Given the description of an element on the screen output the (x, y) to click on. 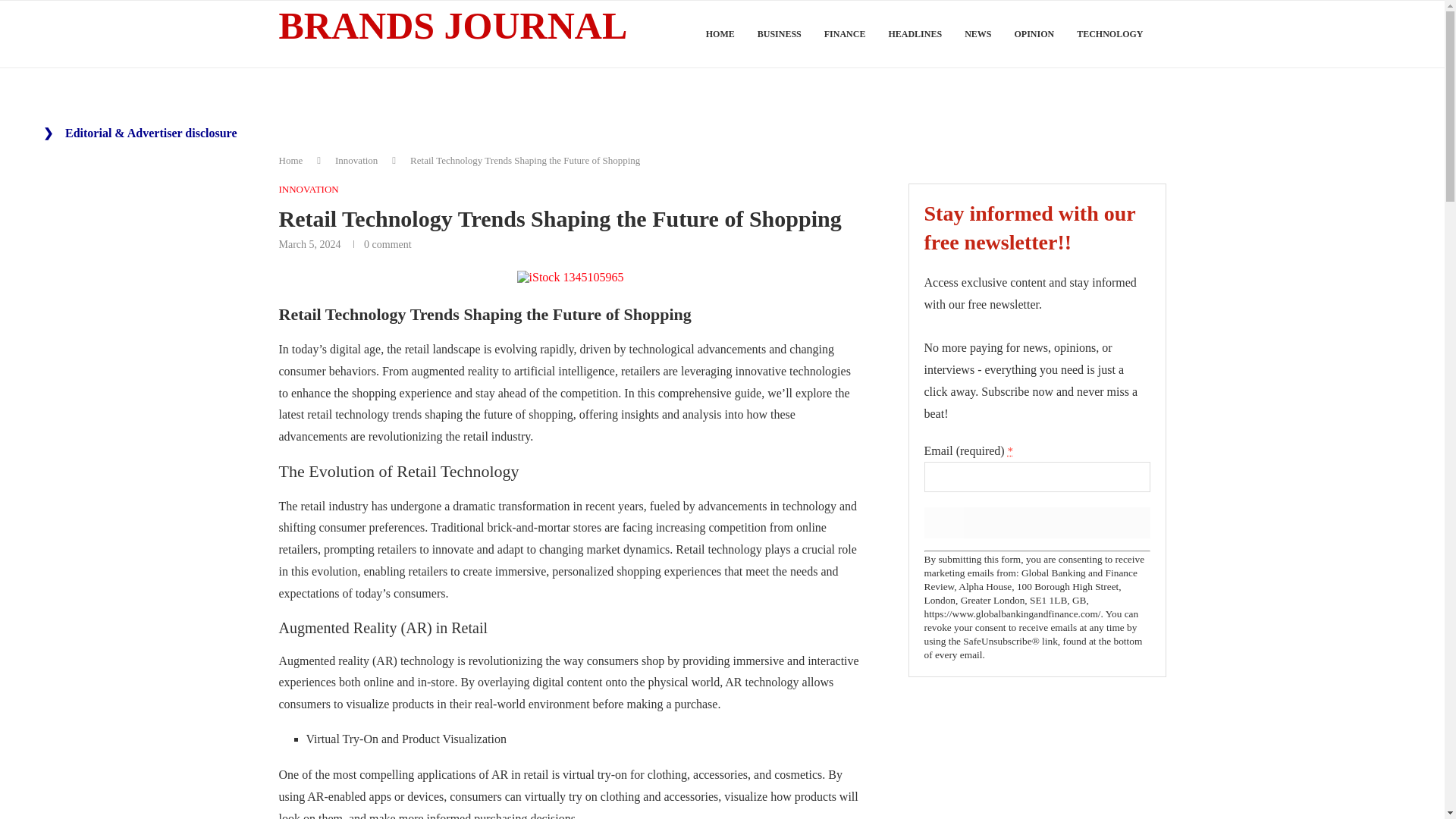
iStock 1345105965 (570, 277)
Innovation (355, 160)
Sign up! (1036, 522)
INNOVATION (309, 189)
Home (290, 160)
BRANDS JOURNAL (453, 26)
Sign up! (1036, 522)
TECHNOLOGY (1109, 33)
